Given the description of an element on the screen output the (x, y) to click on. 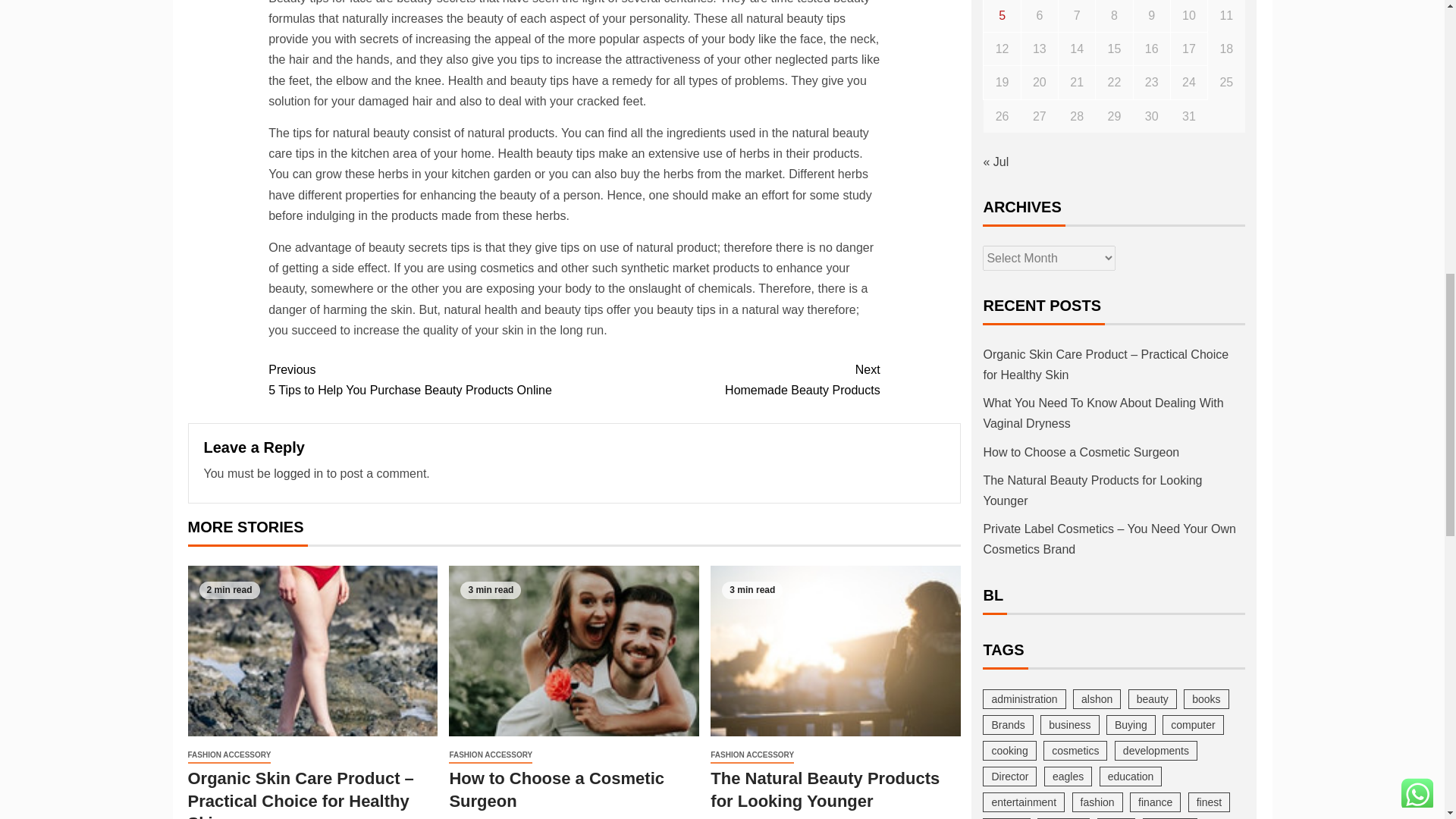
FASHION ACCESSORY (420, 379)
logged in (726, 379)
How to Choose a Cosmetic Surgeon (228, 755)
